Given the description of an element on the screen output the (x, y) to click on. 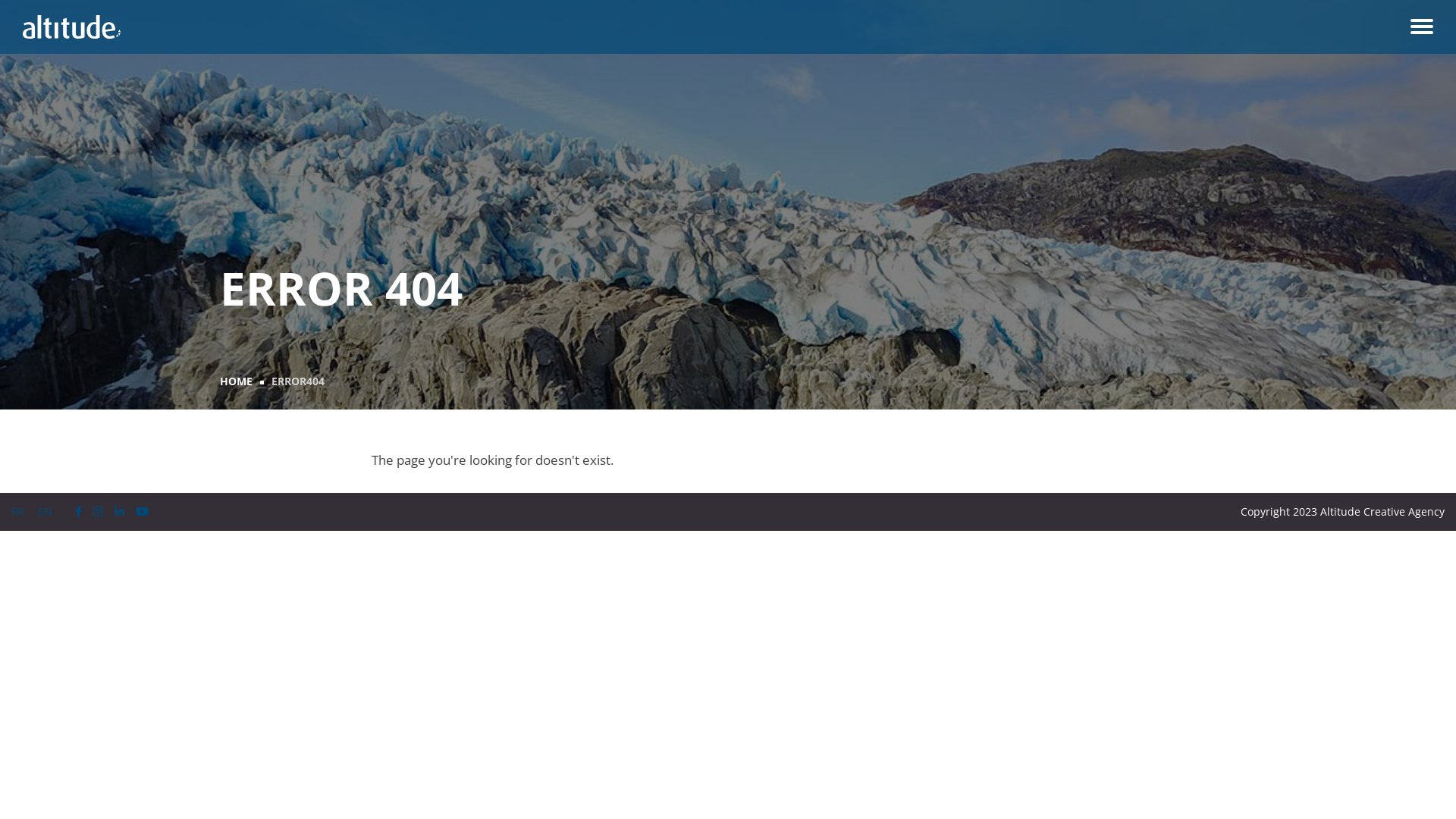
FR Element type: text (17, 510)
EN Element type: text (44, 510)
Altitude Creative Agency Element type: text (71, 26)
HOME Element type: text (235, 380)
